Given the description of an element on the screen output the (x, y) to click on. 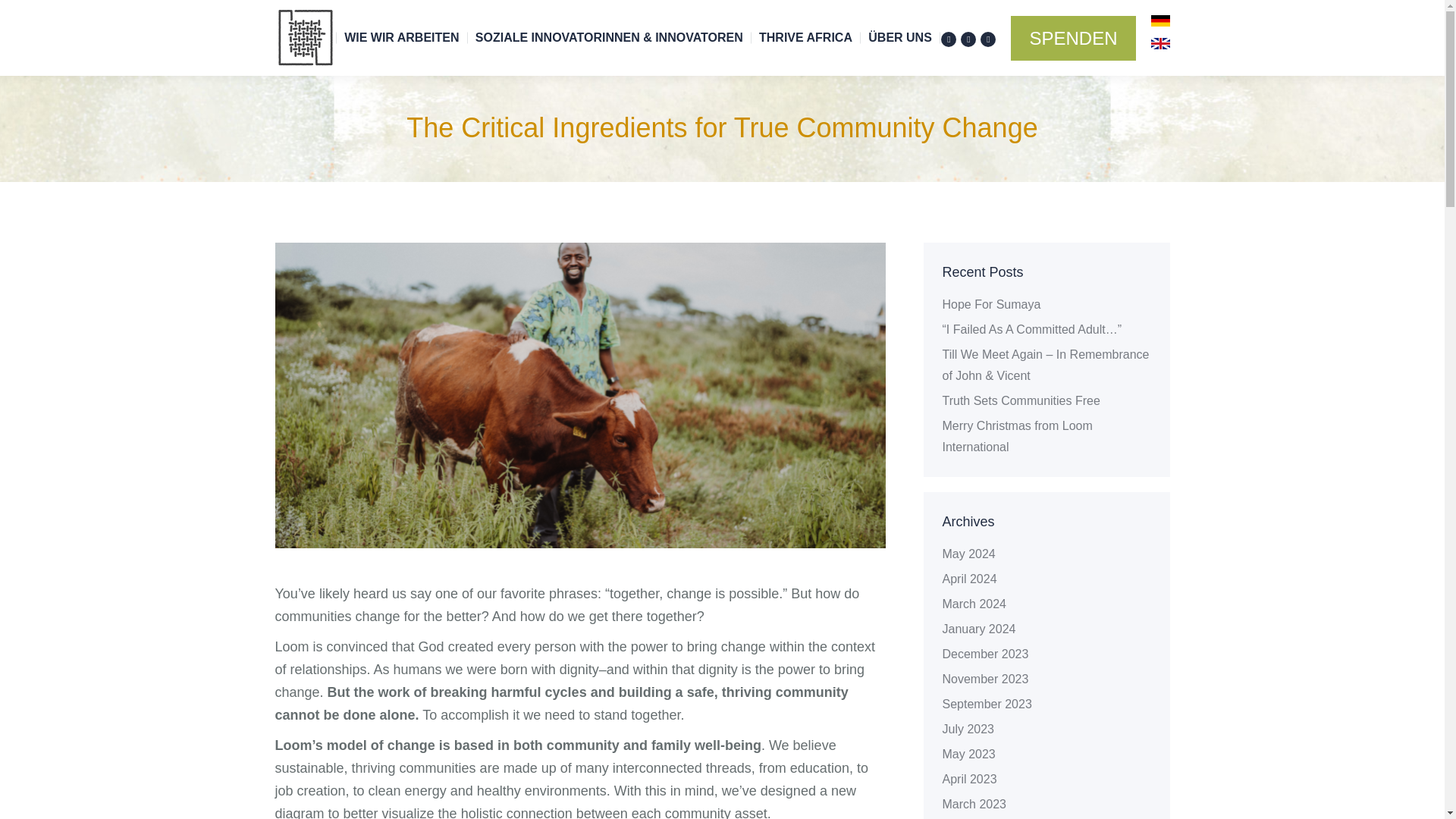
Go! (681, 405)
Instagram page opens in new window (967, 38)
THRIVE AFRICA (805, 38)
Anmelden (1070, 660)
Facebook page opens in new window (948, 38)
Mail page opens in new window (987, 38)
Go! (681, 405)
Instagram page opens in new window (967, 38)
Facebook page opens in new window (948, 38)
WIE WIR ARBEITEN (401, 38)
Mail page opens in new window (987, 38)
Mail page opens in new window (330, 515)
Facebook page opens in new window (285, 515)
SPENDEN (1072, 37)
German Language (1160, 20)
